Given the description of an element on the screen output the (x, y) to click on. 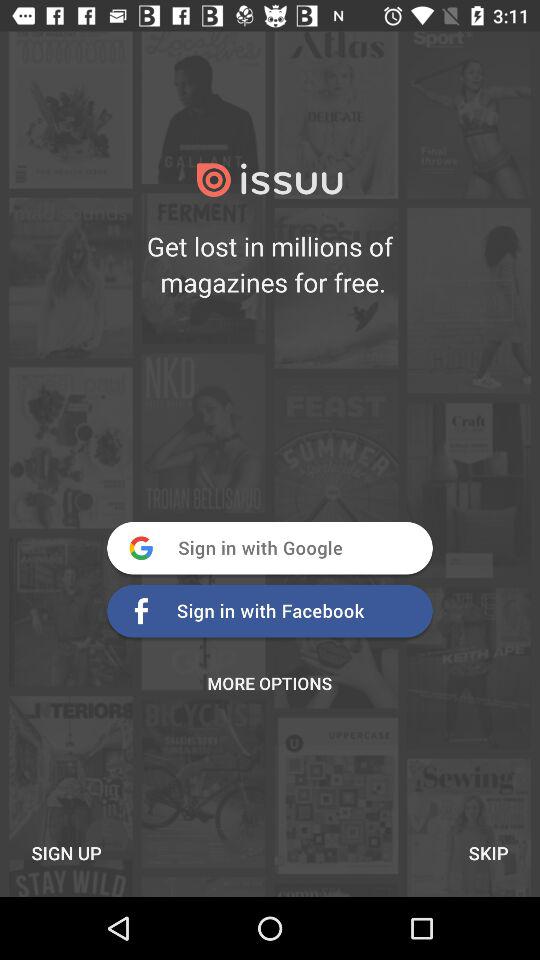
jump until skip icon (488, 852)
